Given the description of an element on the screen output the (x, y) to click on. 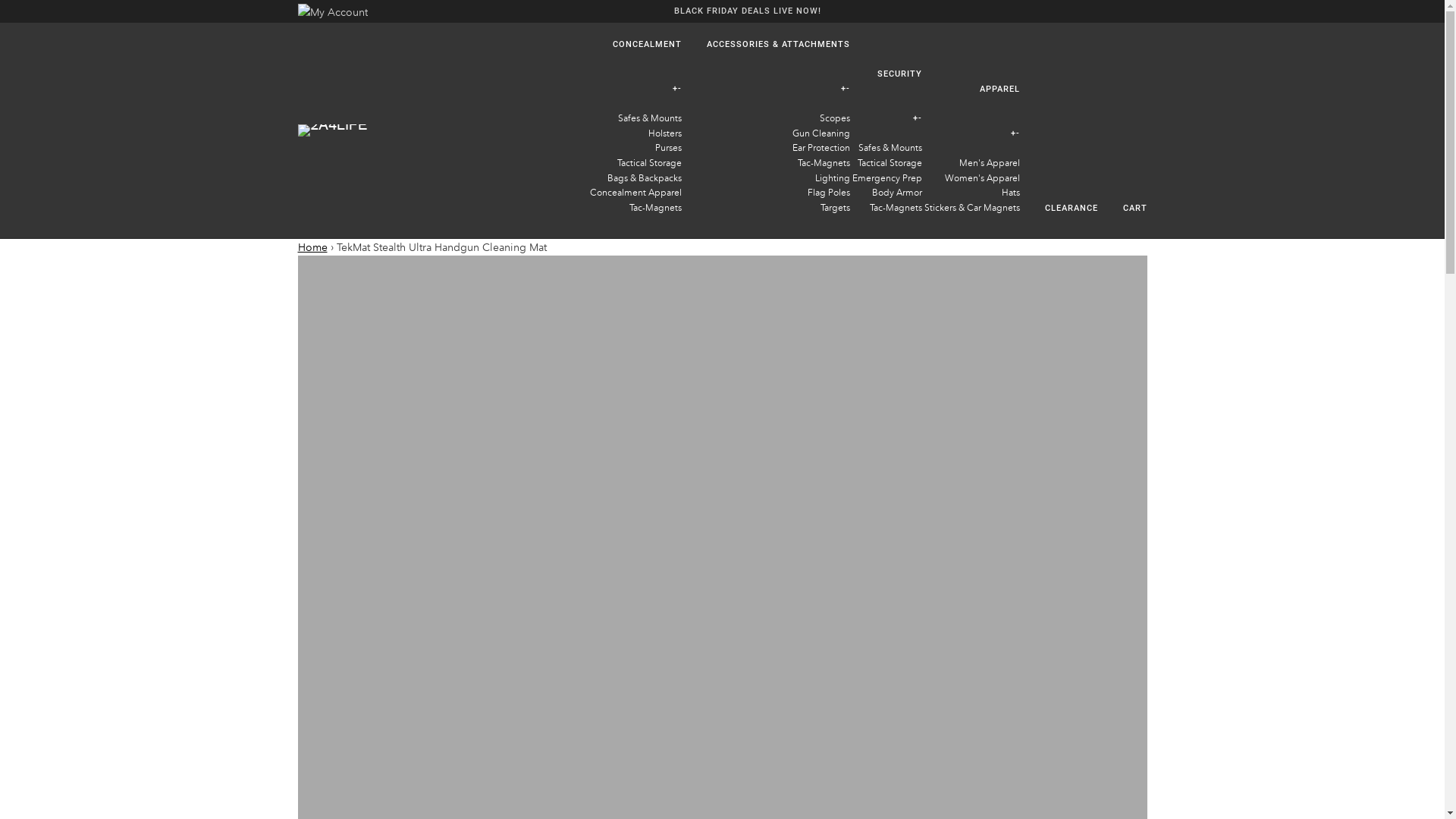
Ear Protection Element type: text (820, 147)
Body Armor Element type: text (897, 191)
Safes & Mounts Element type: text (890, 147)
CART Element type: text (1122, 208)
BLACK FRIDAY DEALS LIVE NOW! Element type: text (747, 10)
+- Element type: text (971, 133)
Scopes Element type: text (834, 117)
Search Element type: hover (1137, 11)
Women's Apparel Element type: text (981, 177)
+- Element type: text (887, 118)
Concealment Apparel Element type: text (631, 191)
+- Element type: text (767, 88)
Stickers & Car Magnets Element type: text (971, 207)
ACCESSORIES & ATTACHMENTS Element type: text (767, 44)
Flag Poles Element type: text (827, 191)
Gun Cleaning Element type: text (820, 132)
Tactical Storage Element type: text (888, 162)
Safes & Mounts Element type: text (644, 117)
Tac-Magnets Element type: text (823, 162)
APPAREL Element type: text (971, 89)
Emergency Prep Element type: text (887, 177)
Hats Element type: text (1010, 191)
CONCEALMENT Element type: text (631, 44)
Purses Element type: text (664, 147)
Tactical Storage Element type: text (645, 162)
Tac-Magnets Element type: text (895, 207)
Tac-Magnets Element type: text (651, 207)
Targets Element type: text (835, 207)
Men's Apparel Element type: text (988, 162)
Bags & Backpacks Element type: text (639, 177)
Home Element type: text (311, 247)
CLEARANCE Element type: text (1060, 208)
Lighting Element type: text (831, 177)
+- Element type: text (631, 88)
Holsters Element type: text (660, 132)
SECURITY Element type: text (887, 74)
